Given the description of an element on the screen output the (x, y) to click on. 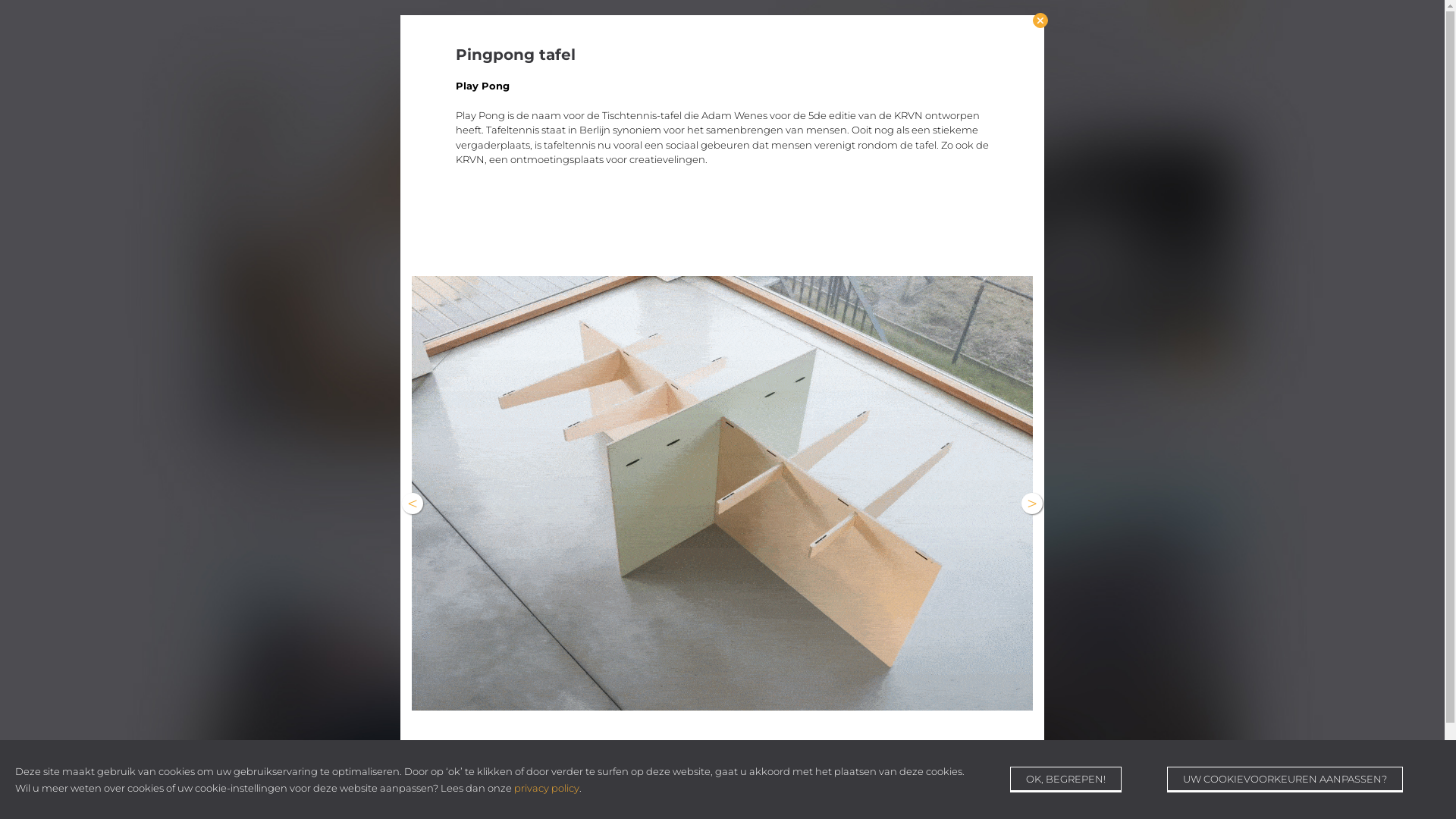
UW COOKIEVOORKEUREN AANPASSEN? Element type: text (1284, 779)
privacy policy Element type: text (546, 787)
OK, BEGREPEN! Element type: text (1065, 779)
Next >> Element type: text (1031, 503)
Pingpong tafel  Element type: hover (721, 492)
Vorige Element type: text (412, 503)
